Given the description of an element on the screen output the (x, y) to click on. 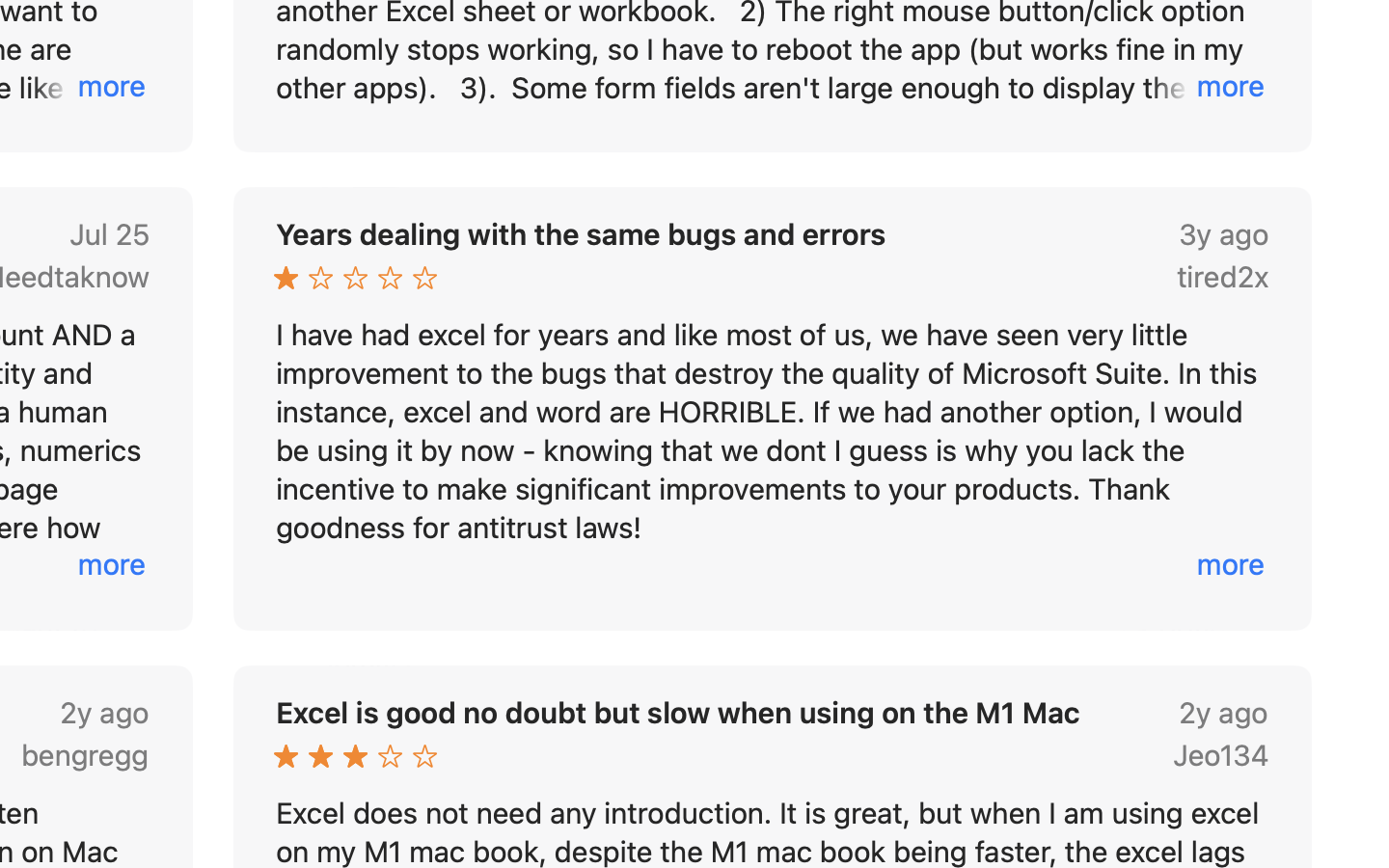
Years dealing with the same bugs and errors, 3y ago, one star, tired2x, I have had excel for years and like most of us, we have seen very little improvement to the bugs that destroy the quality of Microsoft Suite. In this instance, excel and word are HORRIBLE. If we had another option, I would be using it by now - knowing that we dont I guess is why you lack the incentive to make significant improvements to your products. Thank goodness for antitrust laws! 

Excel crashes as many times as it please while working, the alert boxes wont close unlesss you force quit a document which opens in auto recovery only to find it out it never recovered where you left off - if you're lucky enough to remember where you left off. Even where you select pickup where I left off, is inaccurate which I'm sure you are aware of also. 
One day, I can delete content in a row or column, the next day delete doesnt work. It is so unreliable and unfortuntately cannot be my clutch for getting work done. The file doesnt always open when downloaded through an attachment, and no- there is nothing wrong with the atachments - it is part of a larger issue with Excel. 
Your company's whole suite is unbearable to work with for serious projects. I am beyond exhausted and frustrated with all of your products Element type: AXStaticText (772, 408)
